Given the description of an element on the screen output the (x, y) to click on. 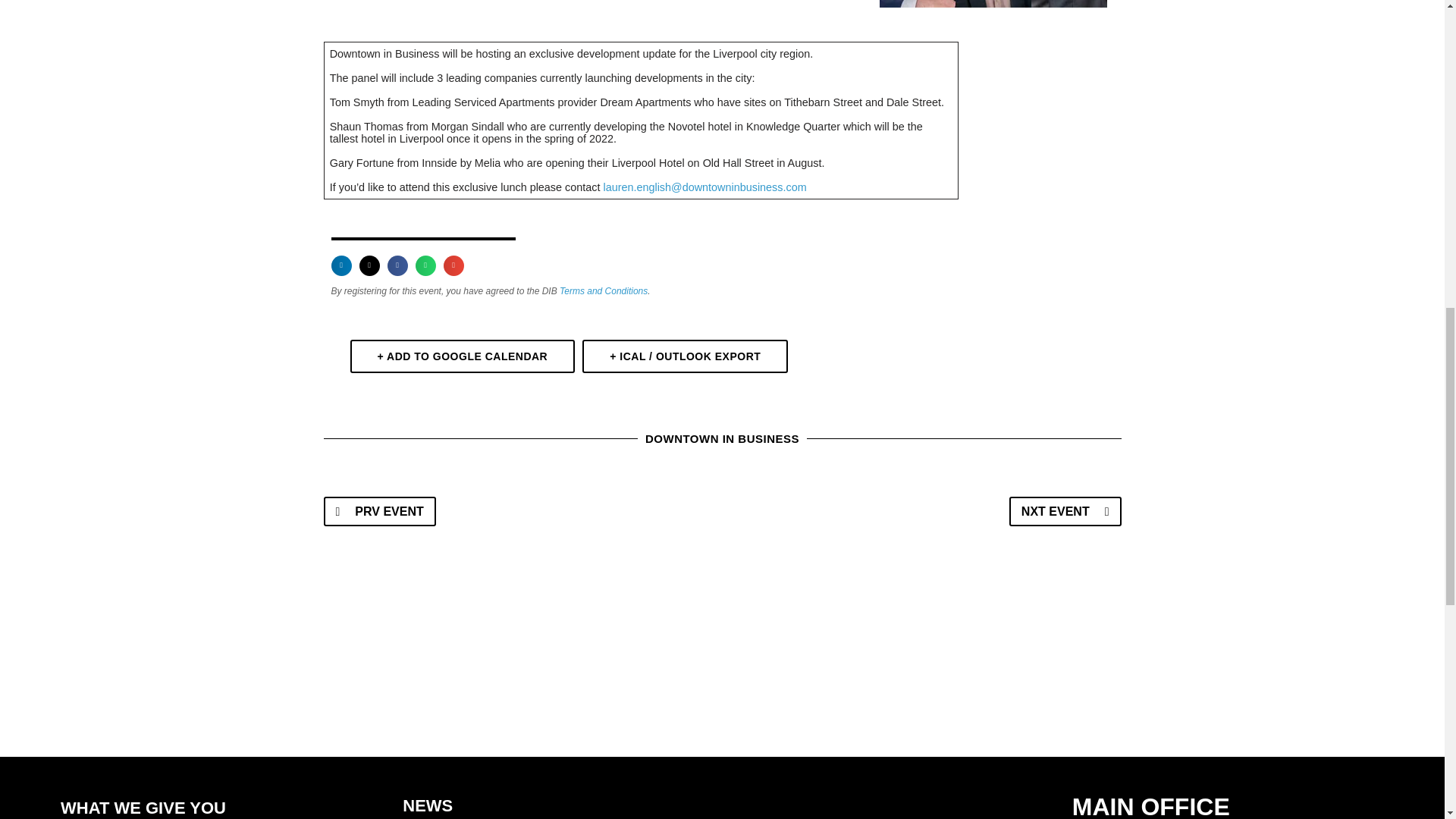
Terms and Conditions (603, 290)
PRV EVENT (379, 511)
